Given the description of an element on the screen output the (x, y) to click on. 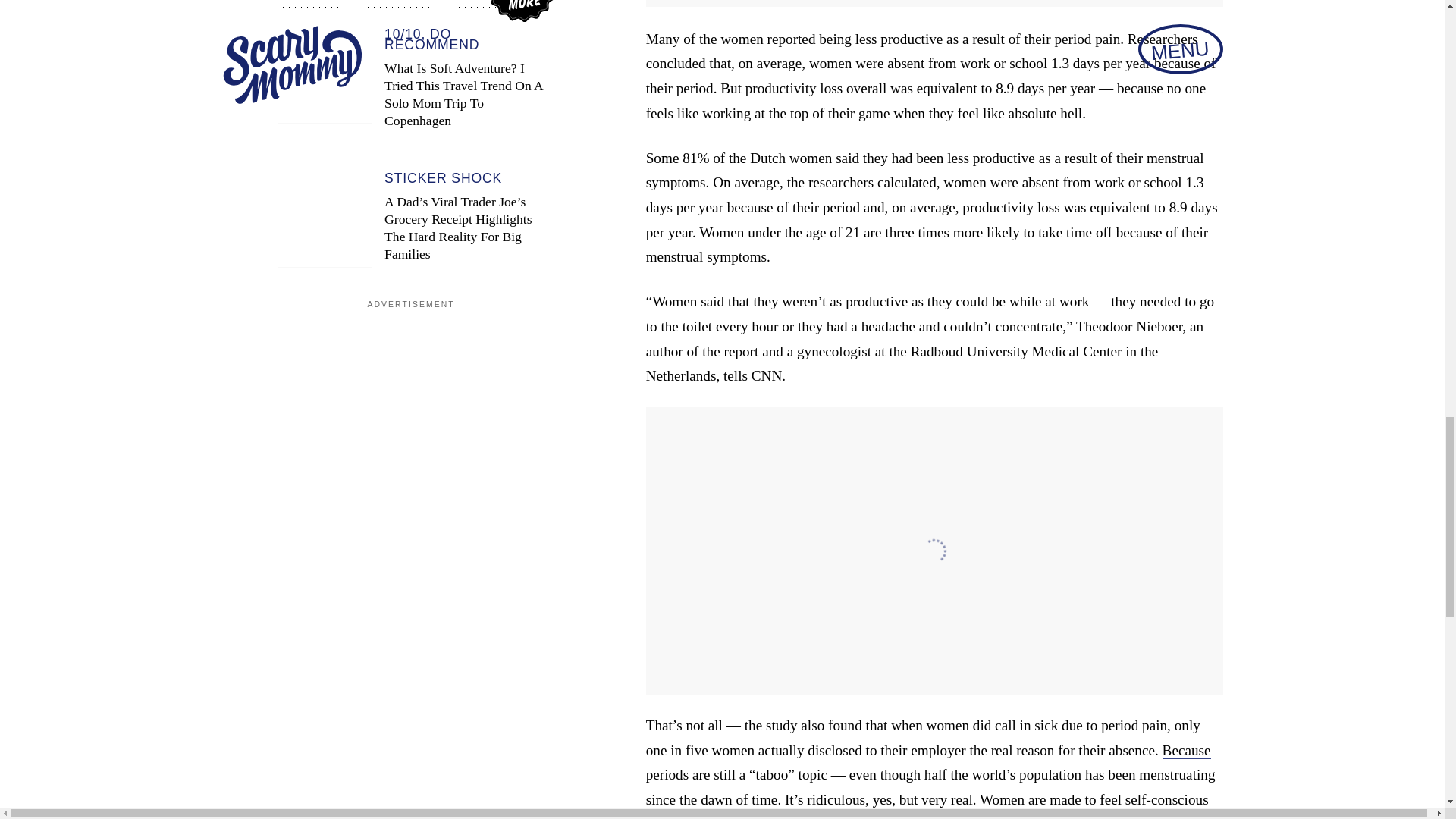
tells CNN (752, 375)
